Given the description of an element on the screen output the (x, y) to click on. 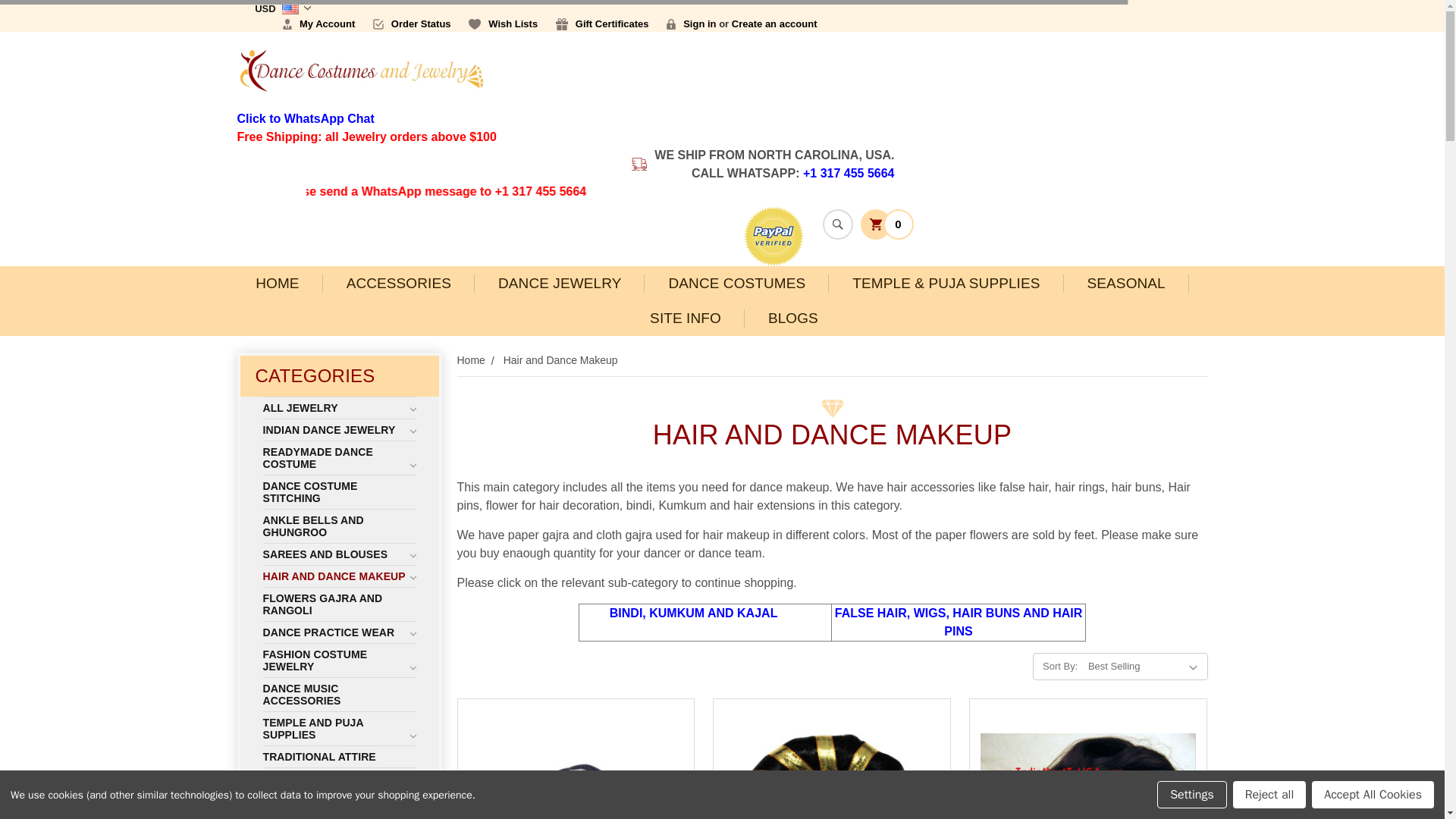
USD (282, 7)
Create an account (774, 23)
Click to WhatsApp Chat (304, 118)
False Hair 3W24 (1088, 772)
hair bun for Bharatanatyam and Kuchipudi dance makeup (831, 769)
Wish Lists (502, 23)
Search (837, 224)
Order Status (411, 23)
Black thread Six feet (576, 766)
Gift Certificates (602, 23)
